Given the description of an element on the screen output the (x, y) to click on. 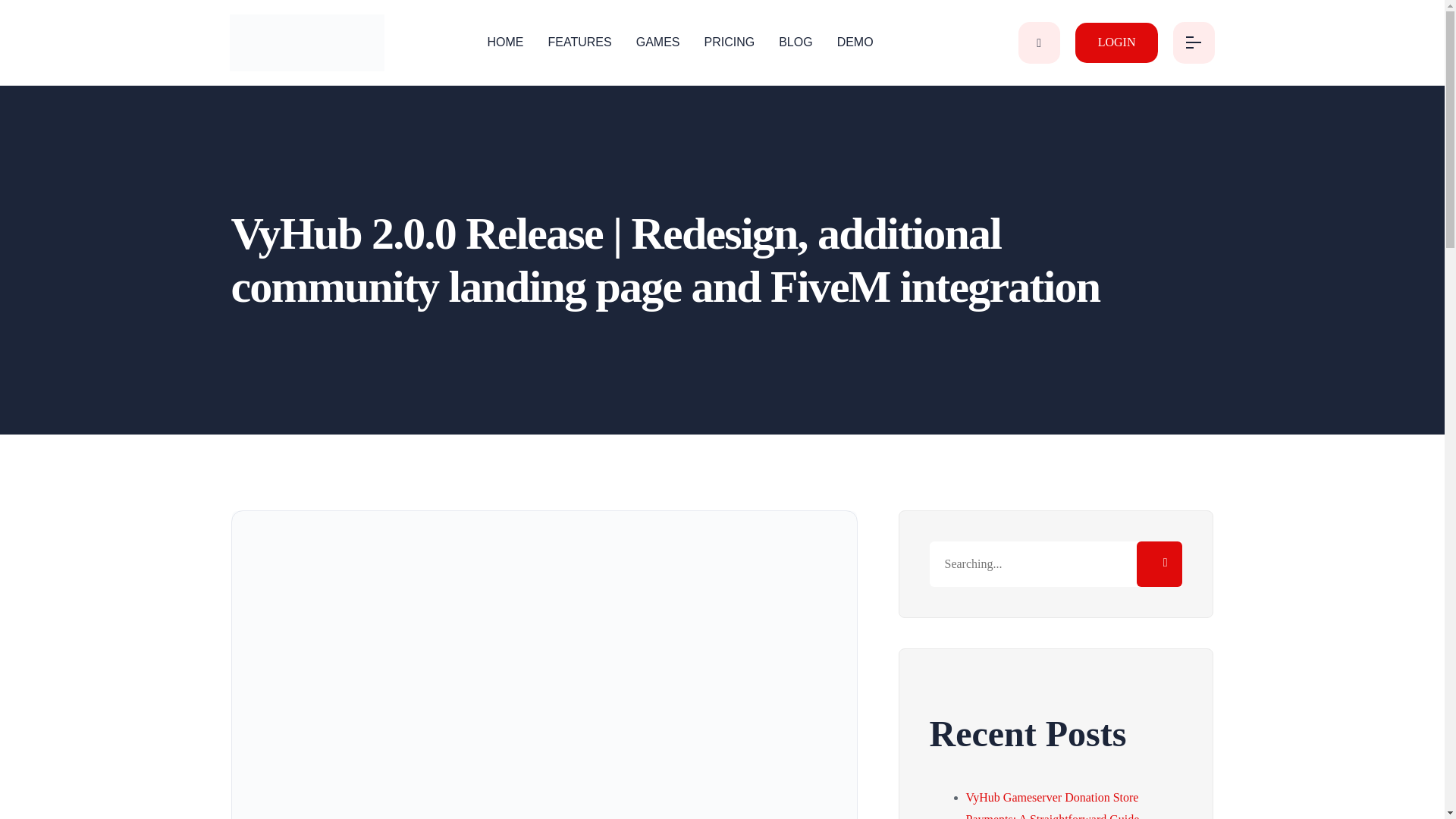
Search (1159, 564)
GAMES (664, 42)
HOME (511, 42)
PRICING (735, 42)
DEMO (855, 42)
BLOG (801, 42)
FEATURES (586, 42)
LOGIN (1116, 42)
